Given the description of an element on the screen output the (x, y) to click on. 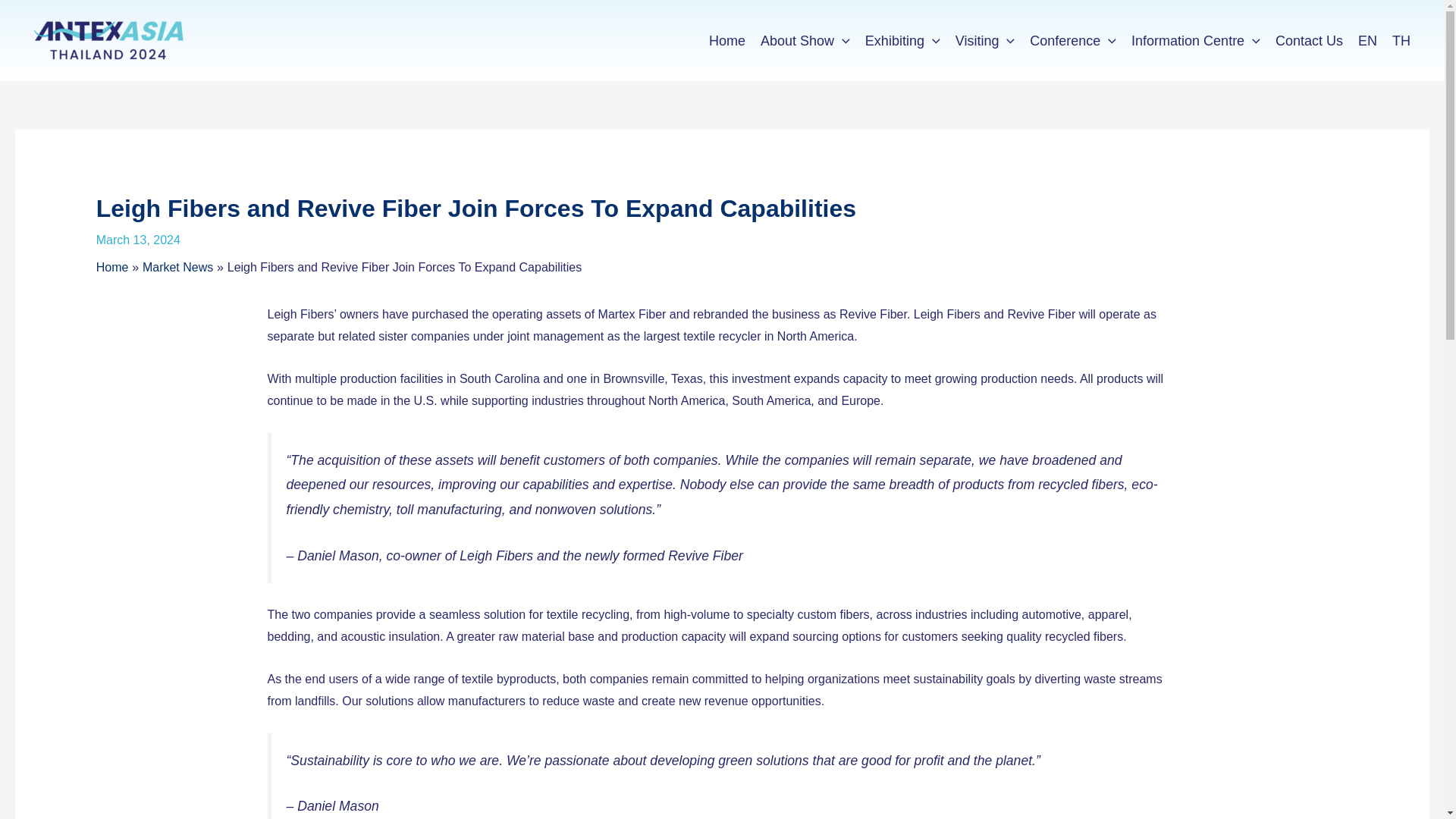
Information Centre (1196, 40)
Conference (1073, 40)
Exhibiting (902, 40)
About Show (804, 40)
Visiting (985, 40)
Contact Us (1309, 40)
